Given the description of an element on the screen output the (x, y) to click on. 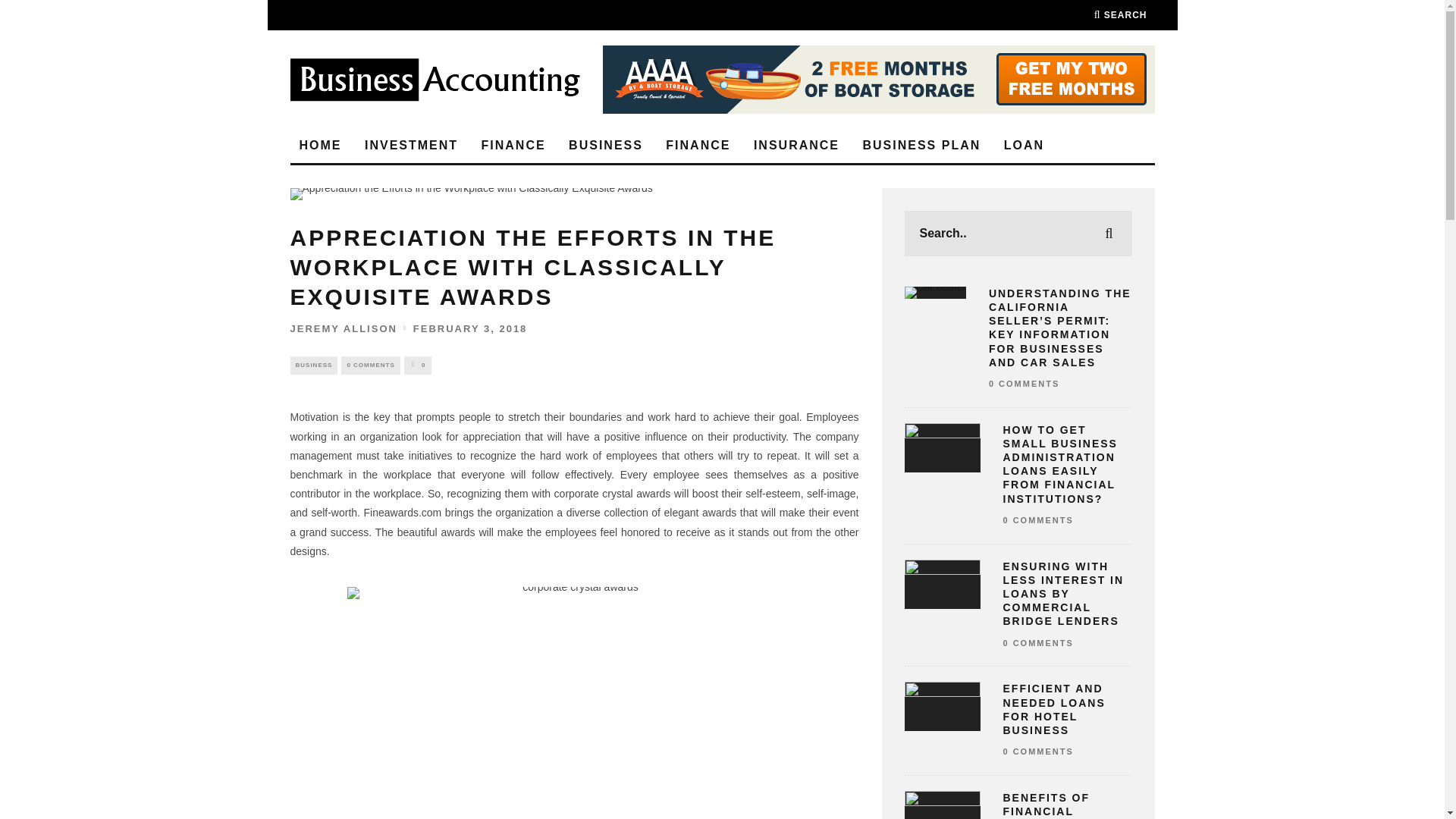
0 COMMENTS (369, 365)
Search (1120, 15)
SEARCH (1120, 15)
INSURANCE (796, 145)
FINANCE (512, 145)
View all posts in Business (313, 365)
HOME (319, 145)
LOAN (1023, 145)
FINANCE (697, 145)
BUSINESS (605, 145)
